Given the description of an element on the screen output the (x, y) to click on. 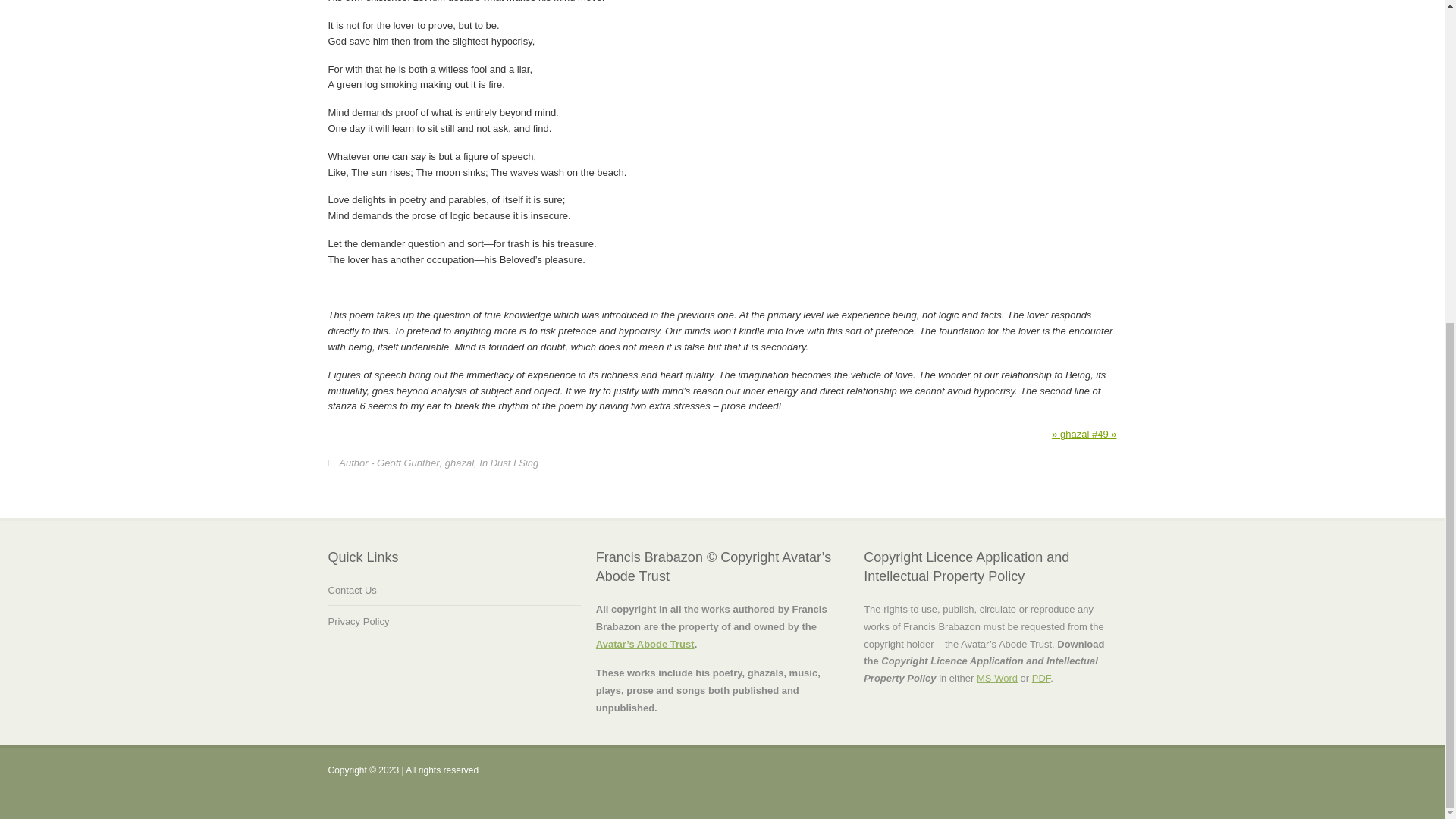
ghazal (459, 463)
Privacy Policy (357, 625)
In Dust I Sing (508, 463)
Author - Geoff Gunther (389, 463)
Contact Us (351, 594)
